Given the description of an element on the screen output the (x, y) to click on. 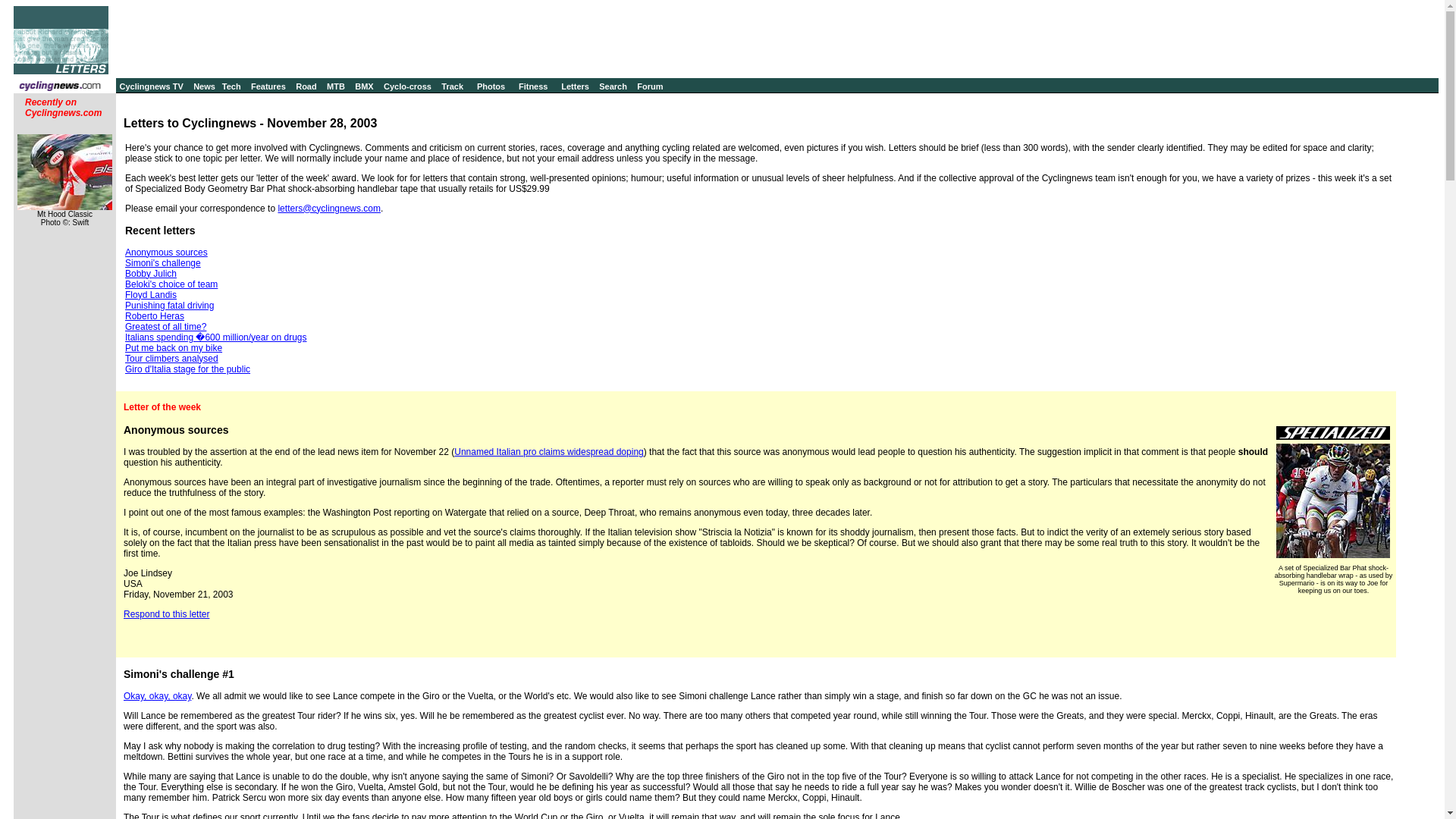
BMX (363, 85)
Photos (491, 85)
Simoni's challenge (162, 262)
Floyd Landis (150, 294)
Cyclingnews TV (151, 85)
Roberto Heras (154, 316)
Put me back on my bike (173, 347)
Greatest of all time? (165, 326)
Anonymous sources (166, 252)
Tech (231, 85)
News (204, 85)
Track (452, 85)
Search (612, 85)
Bobby Julich (150, 273)
Tour climbers analysed (171, 357)
